Given the description of an element on the screen output the (x, y) to click on. 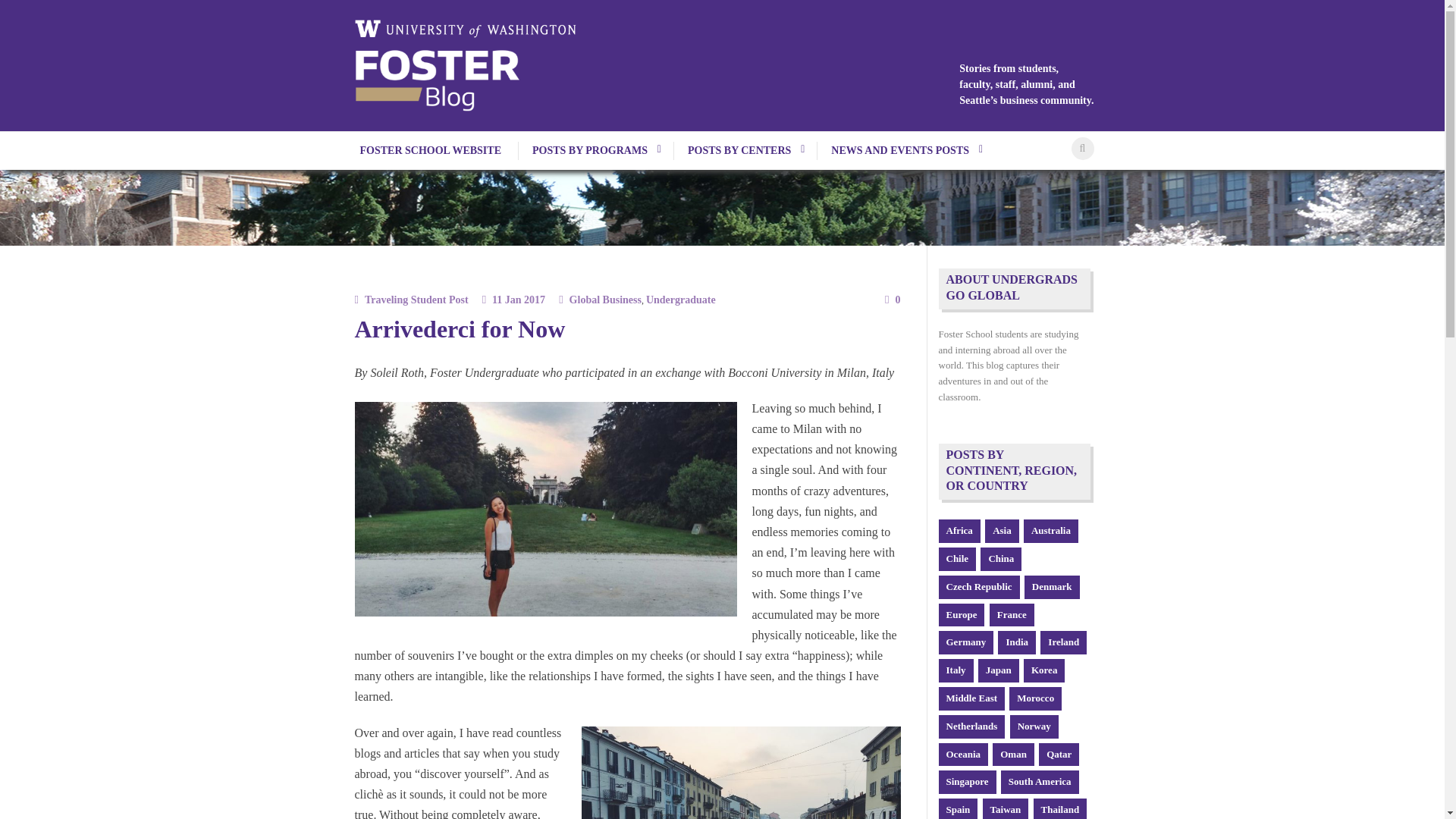
Posts by Traveling Student Post (416, 299)
